Given the description of an element on the screen output the (x, y) to click on. 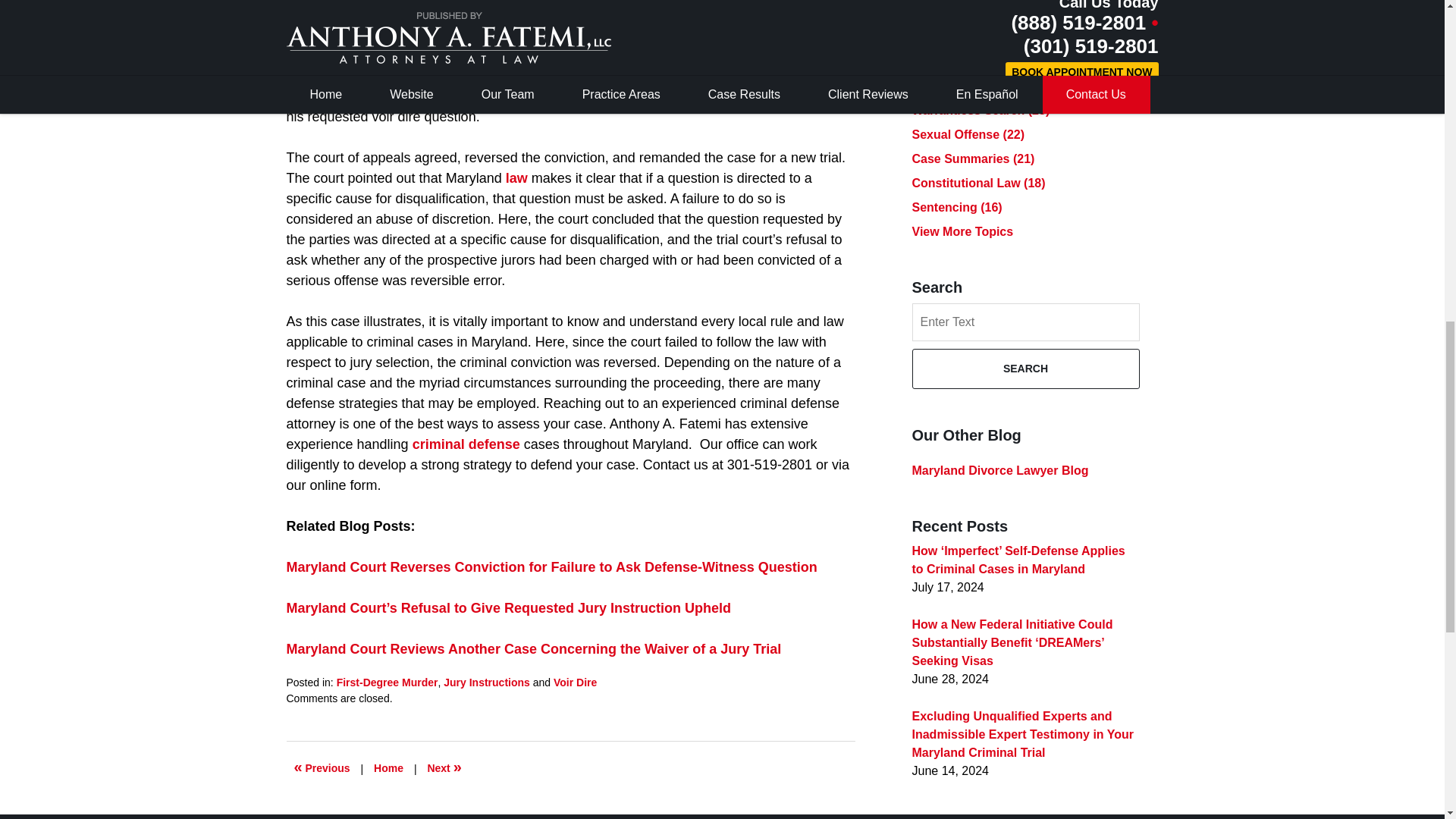
Home (388, 768)
Voir Dire (574, 682)
criminal defense (465, 444)
View all posts in Voir Dire (574, 682)
First-Degree Murder (387, 682)
View all posts in Jury Instructions (486, 682)
Jury Instructions (486, 682)
law (516, 177)
View all posts in First-Degree Murder (387, 682)
